Given the description of an element on the screen output the (x, y) to click on. 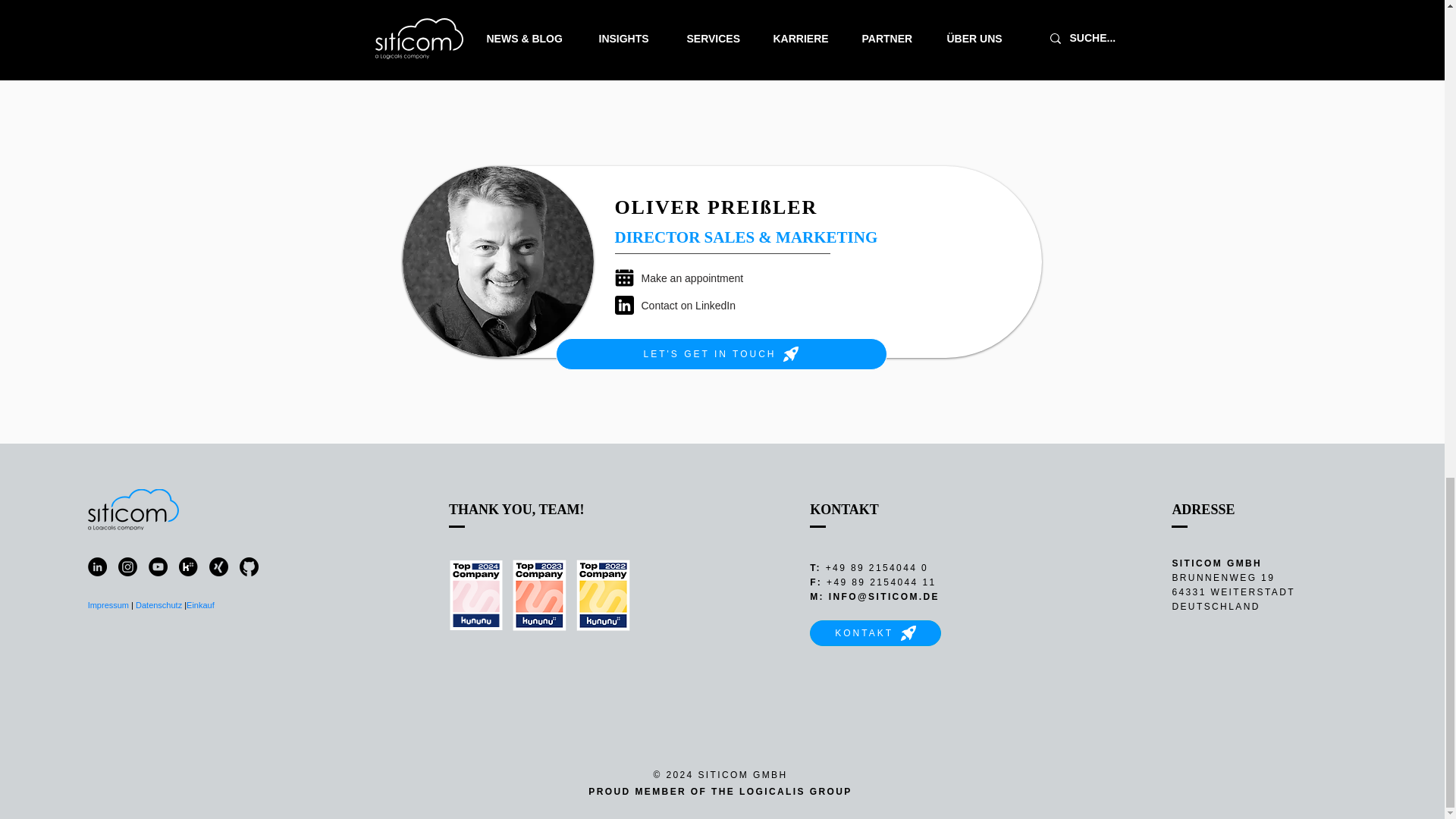
5G Private networks for industry 4.0 (864, 6)
Impressum (108, 604)
Contact on LinkedIn (702, 305)
LET'S GET IN TOUCH (720, 354)
Download (864, 43)
Einkauf  (201, 604)
Make an appointment (702, 277)
Datenschutz (158, 604)
